Given the description of an element on the screen output the (x, y) to click on. 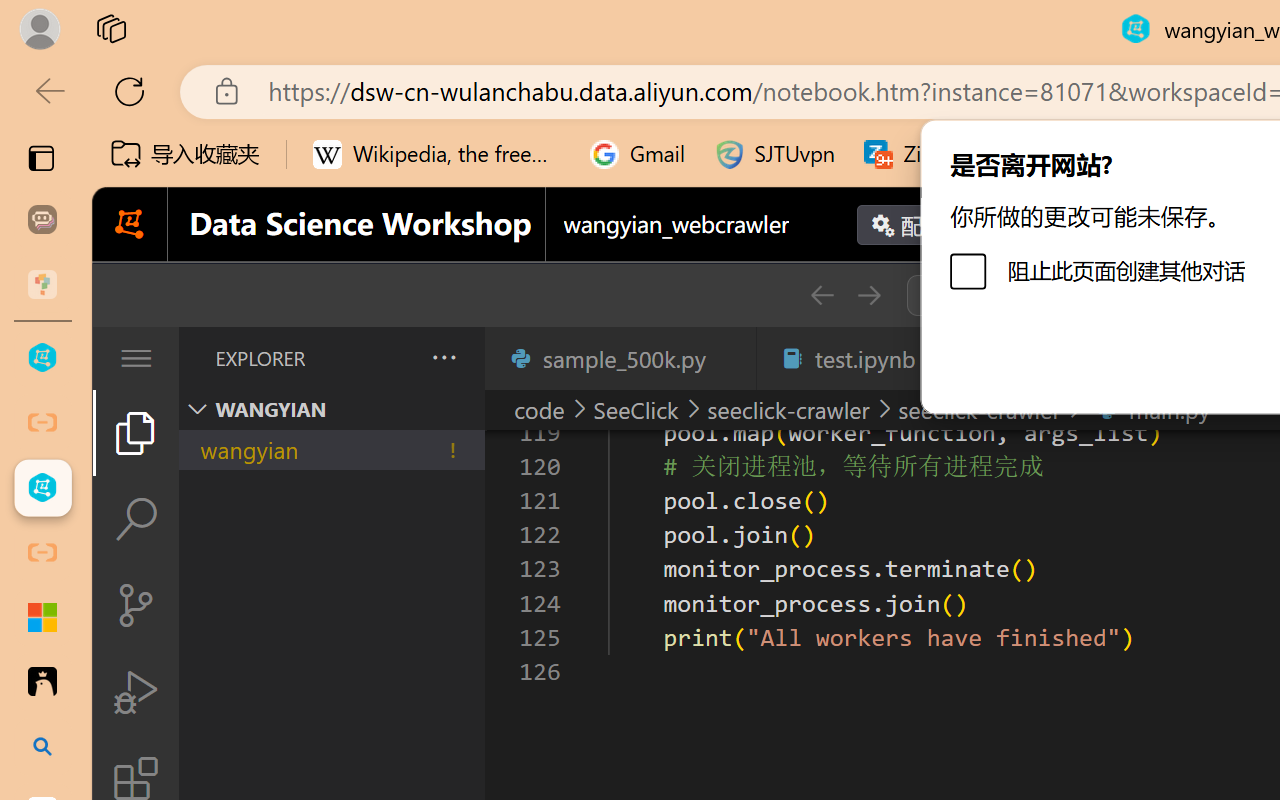
Retrospect (801, 111)
Basis (1172, 111)
Banded (1080, 111)
